Given the description of an element on the screen output the (x, y) to click on. 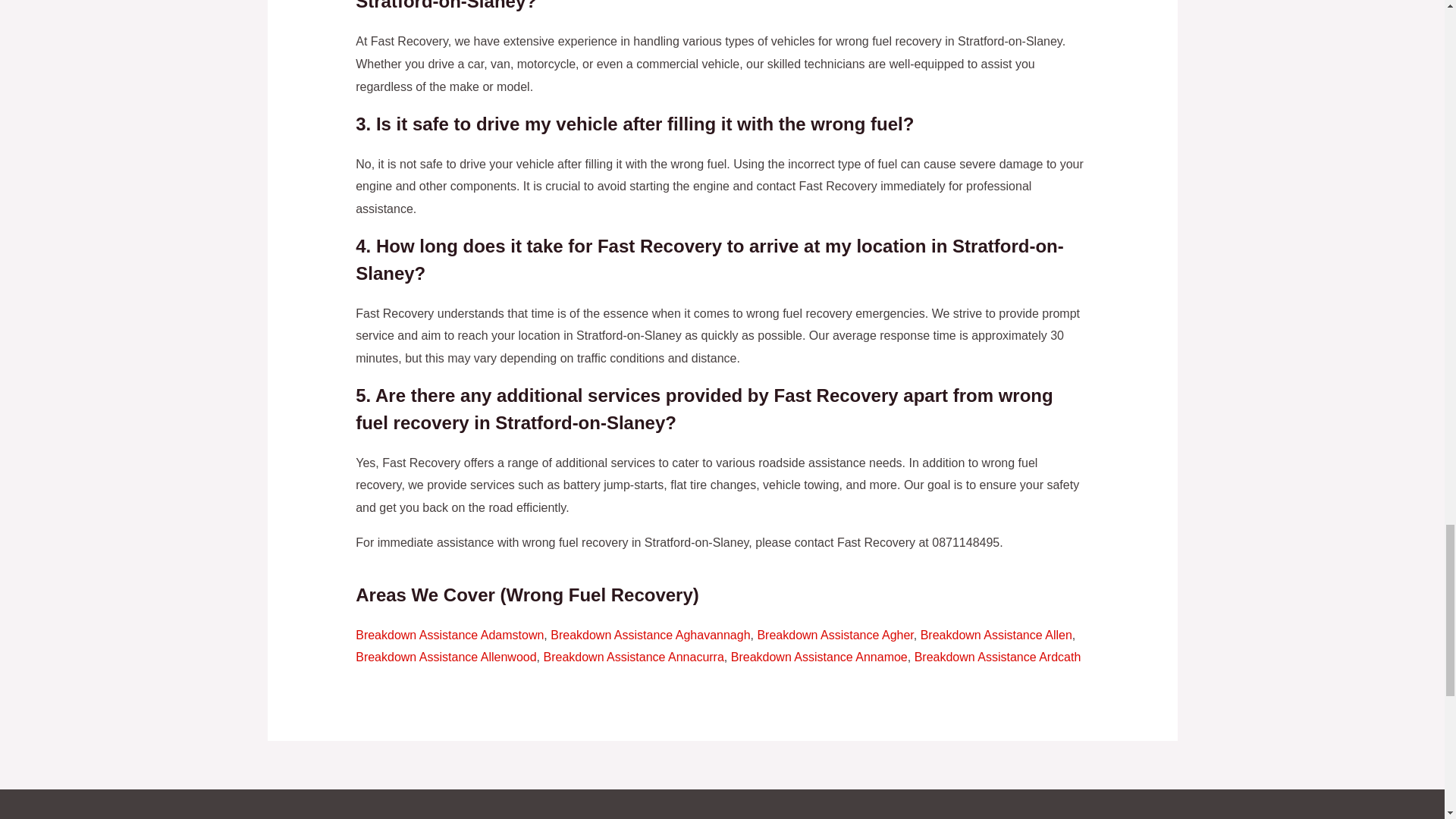
Breakdown Assistance Ardcath (997, 656)
Breakdown Assistance Annamoe (818, 656)
Breakdown Assistance Aghavannagh (649, 634)
Breakdown Assistance Agher (834, 634)
Breakdown Assistance Annacurra (633, 656)
Breakdown Assistance Allenwood (445, 656)
Breakdown Assistance Adamstown (449, 634)
Breakdown Assistance Allen (995, 634)
